Given the description of an element on the screen output the (x, y) to click on. 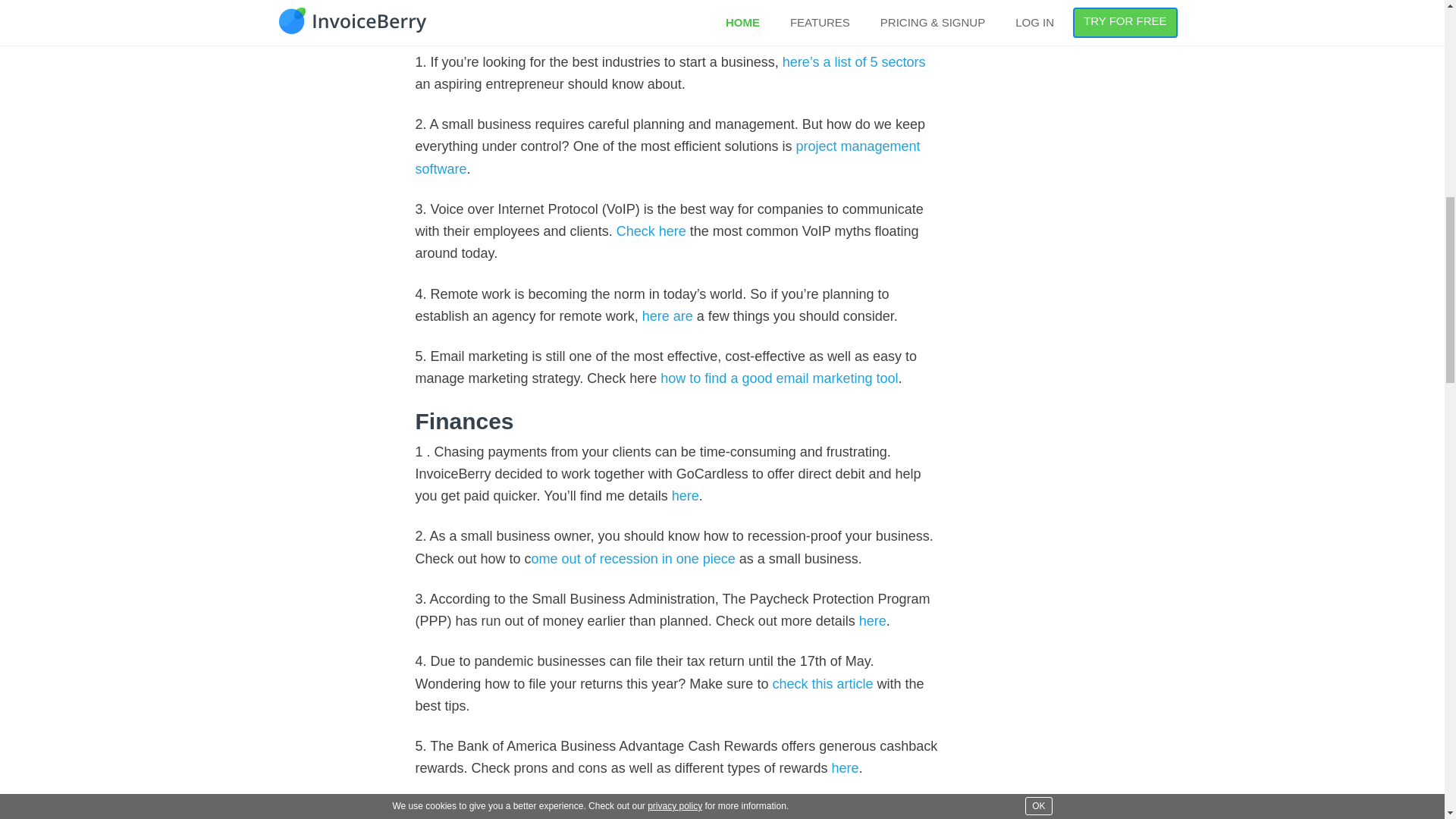
here are (667, 315)
here (845, 767)
Check here (648, 231)
how to find a good email marketing tool (779, 378)
check this article (821, 683)
here (684, 495)
here (872, 620)
ome out of recession in one piece (633, 558)
project management software (667, 157)
